Given the description of an element on the screen output the (x, y) to click on. 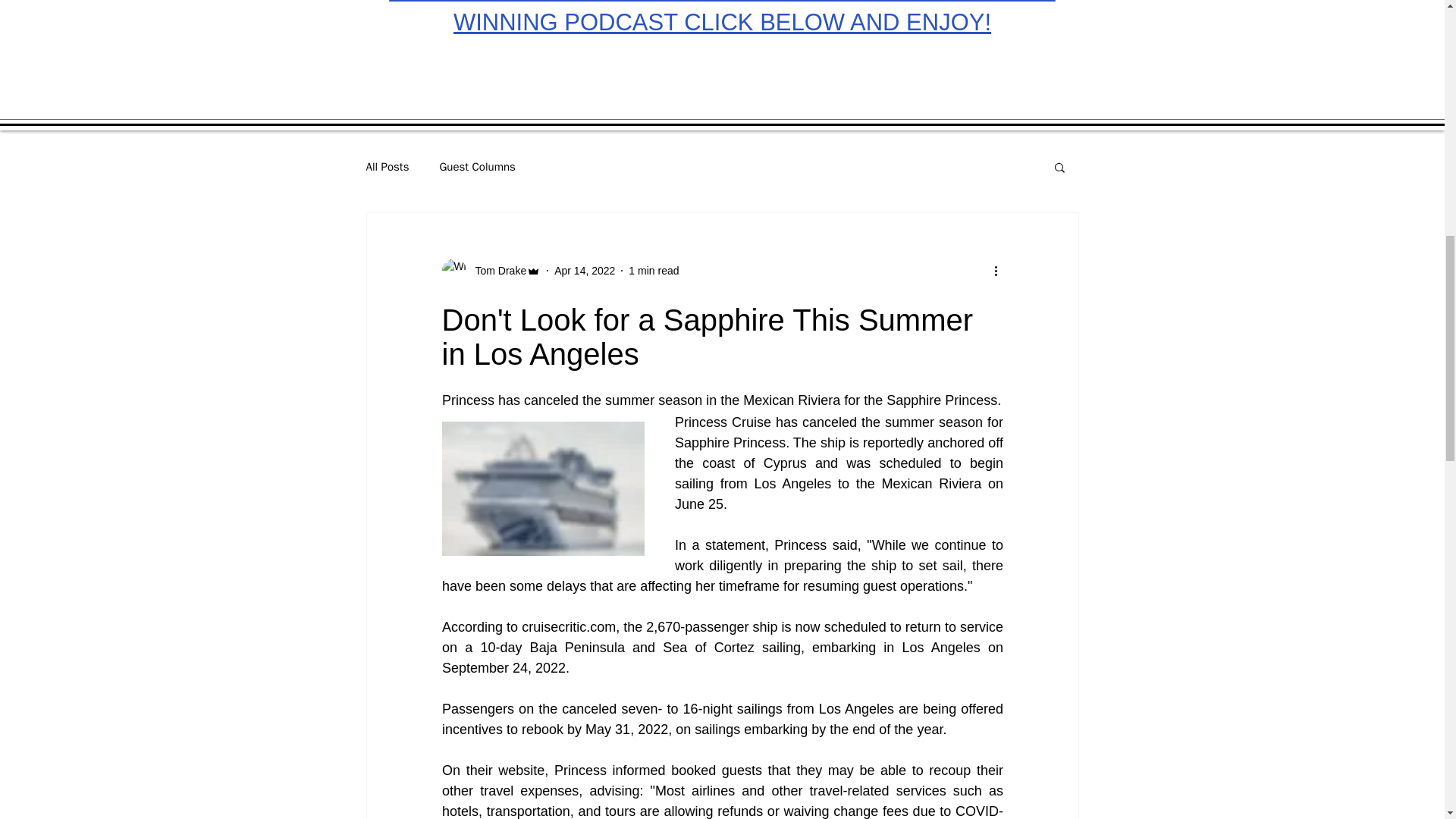
Tom Drake (490, 270)
1 min read (653, 269)
Tom  Drake (495, 270)
All Posts (387, 165)
Guest Columns (477, 165)
Apr 14, 2022 (584, 269)
